Given the description of an element on the screen output the (x, y) to click on. 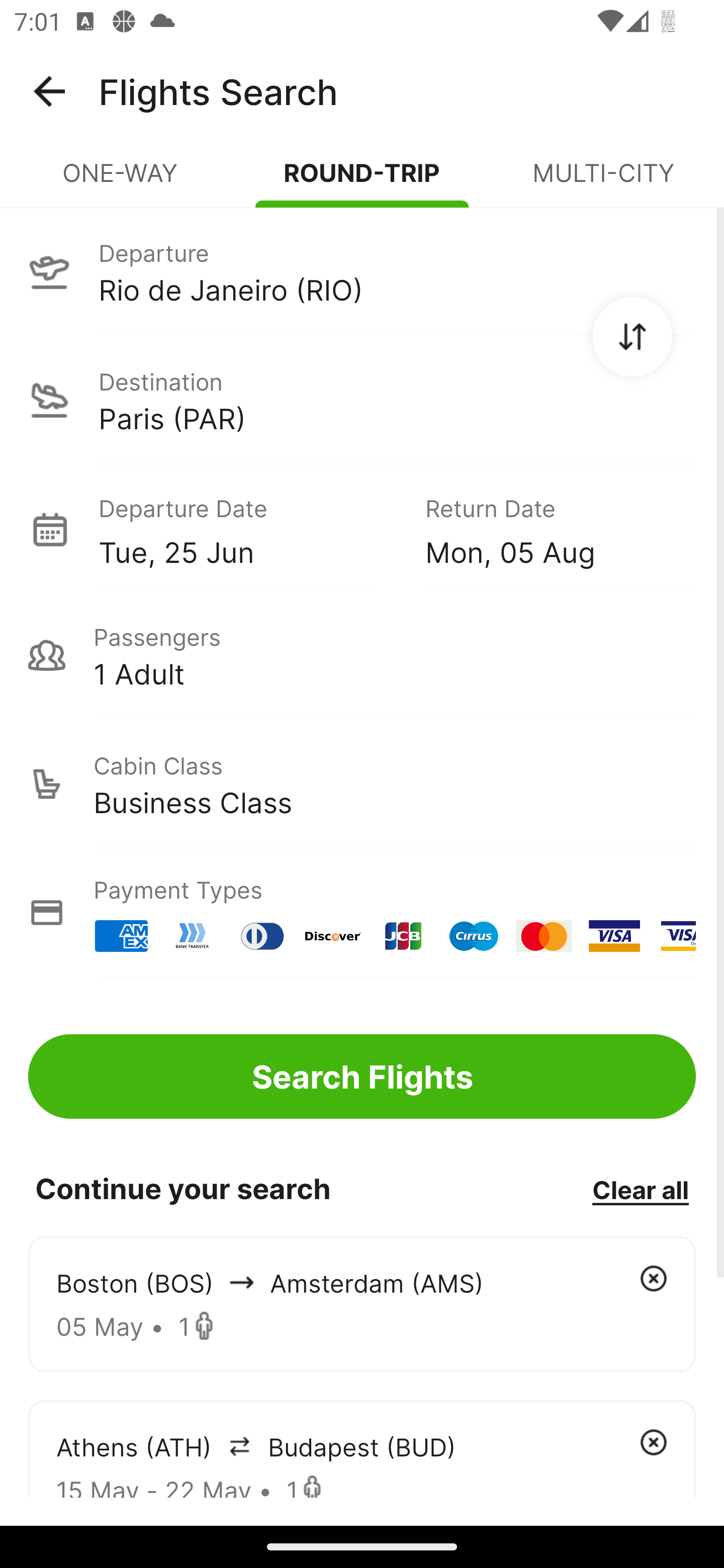
ONE-WAY (120, 180)
ROUND-TRIP (361, 180)
MULTI-CITY (603, 180)
Departure Rio de Janeiro (RIO) (362, 270)
Destination Paris (PAR) (362, 400)
Departure Date Tue, 25 Jun (247, 528)
Return Date Mon, 05 Aug (546, 528)
Passengers 1 Adult (362, 655)
Cabin Class Business Class (362, 783)
Payment Types (362, 912)
Search Flights (361, 1075)
Clear all (640, 1189)
